Given the description of an element on the screen output the (x, y) to click on. 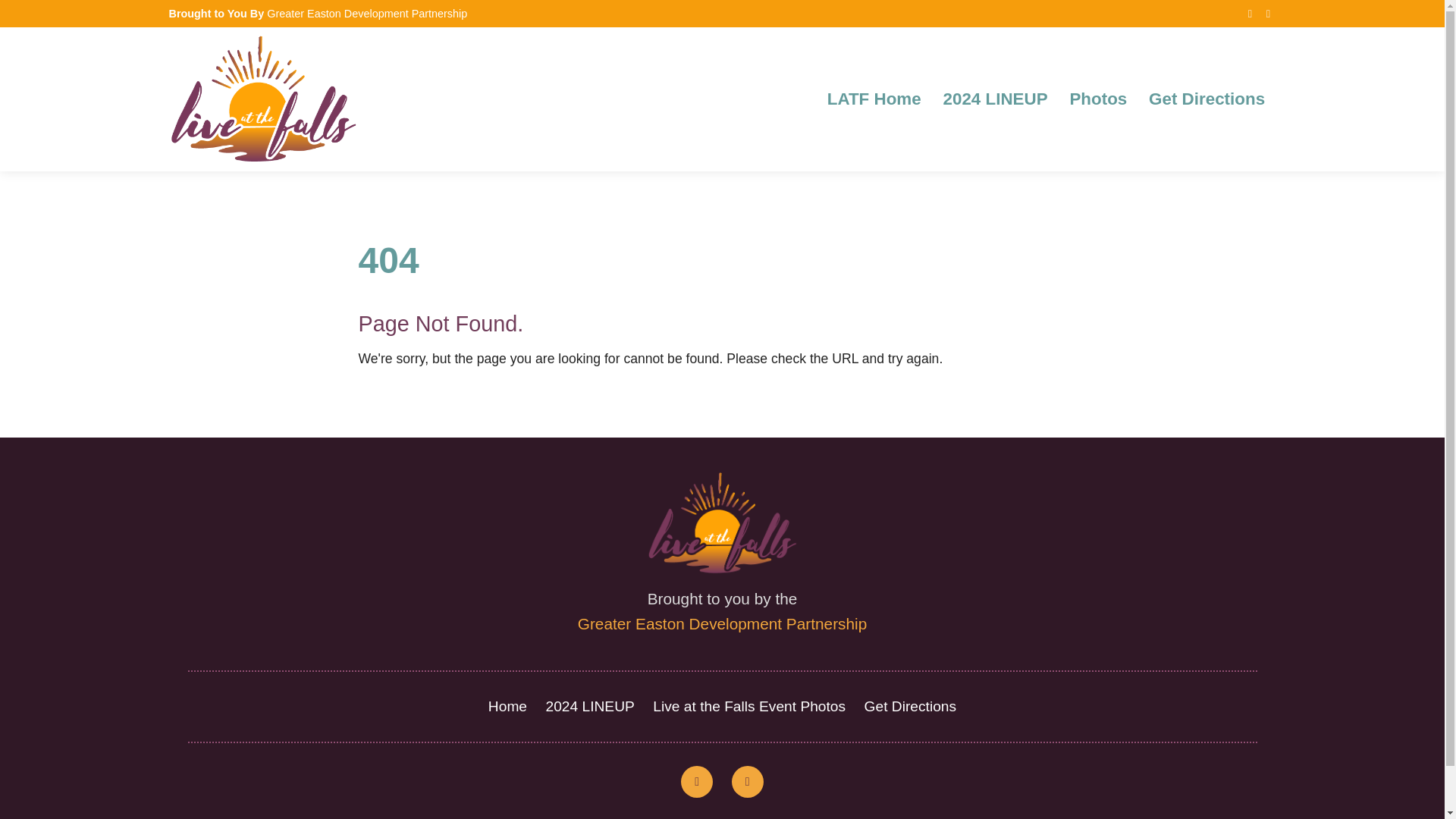
LATF Home (874, 99)
Get Directions (910, 706)
Greater Easton Development Partnership (366, 13)
Get Directions (1206, 99)
Greater Easton Development Partnership (722, 623)
2024 LINEUP (590, 706)
Live at the Falls Event Photos (748, 706)
Photos (1097, 99)
2024 LINEUP (994, 99)
Home (507, 706)
